Given the description of an element on the screen output the (x, y) to click on. 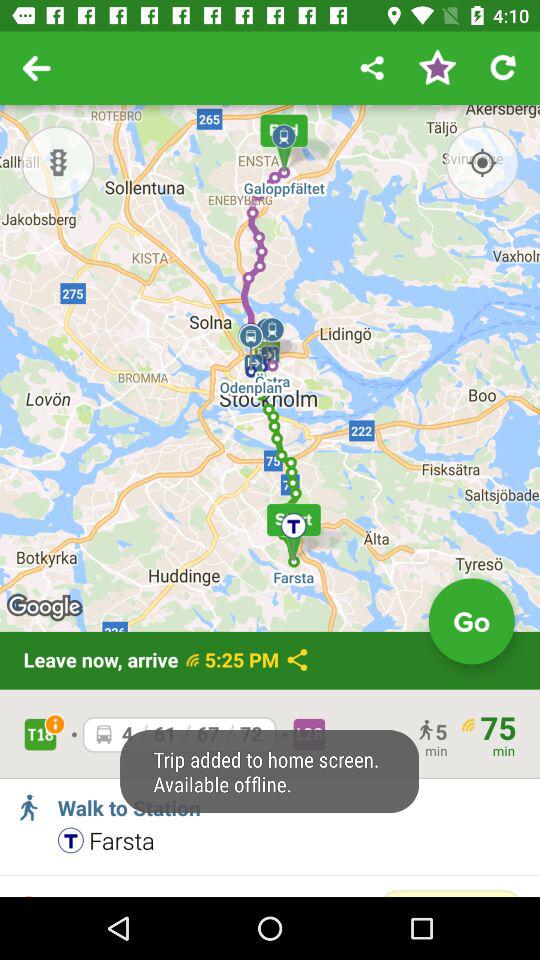
zoom to the location (482, 162)
